Given the description of an element on the screen output the (x, y) to click on. 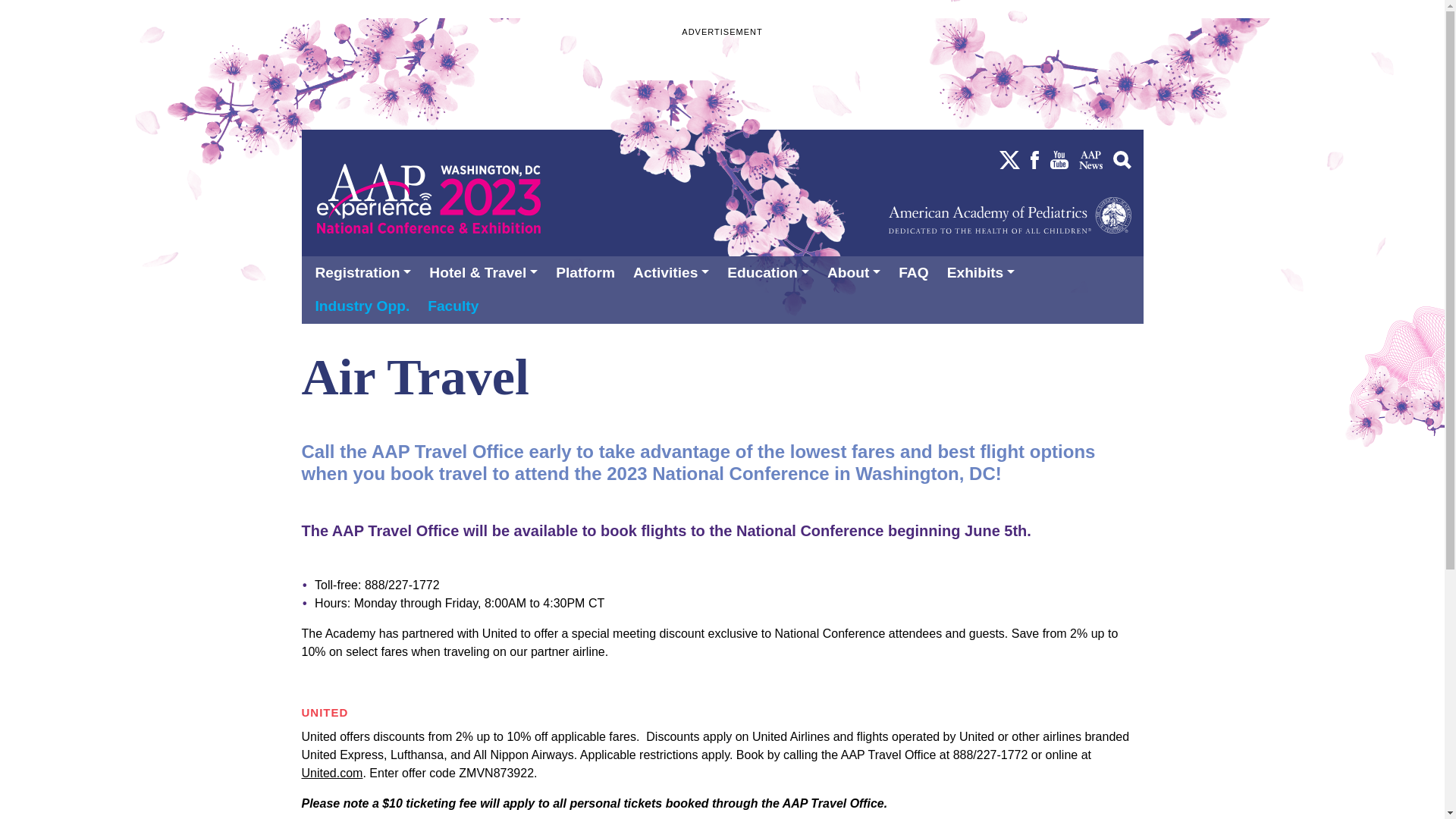
Education (770, 273)
Registration (365, 273)
Registration (365, 273)
Activities (673, 273)
Activities (673, 273)
3rd party ad content (721, 71)
Platform (588, 273)
Platform (588, 273)
About (856, 273)
